Given the description of an element on the screen output the (x, y) to click on. 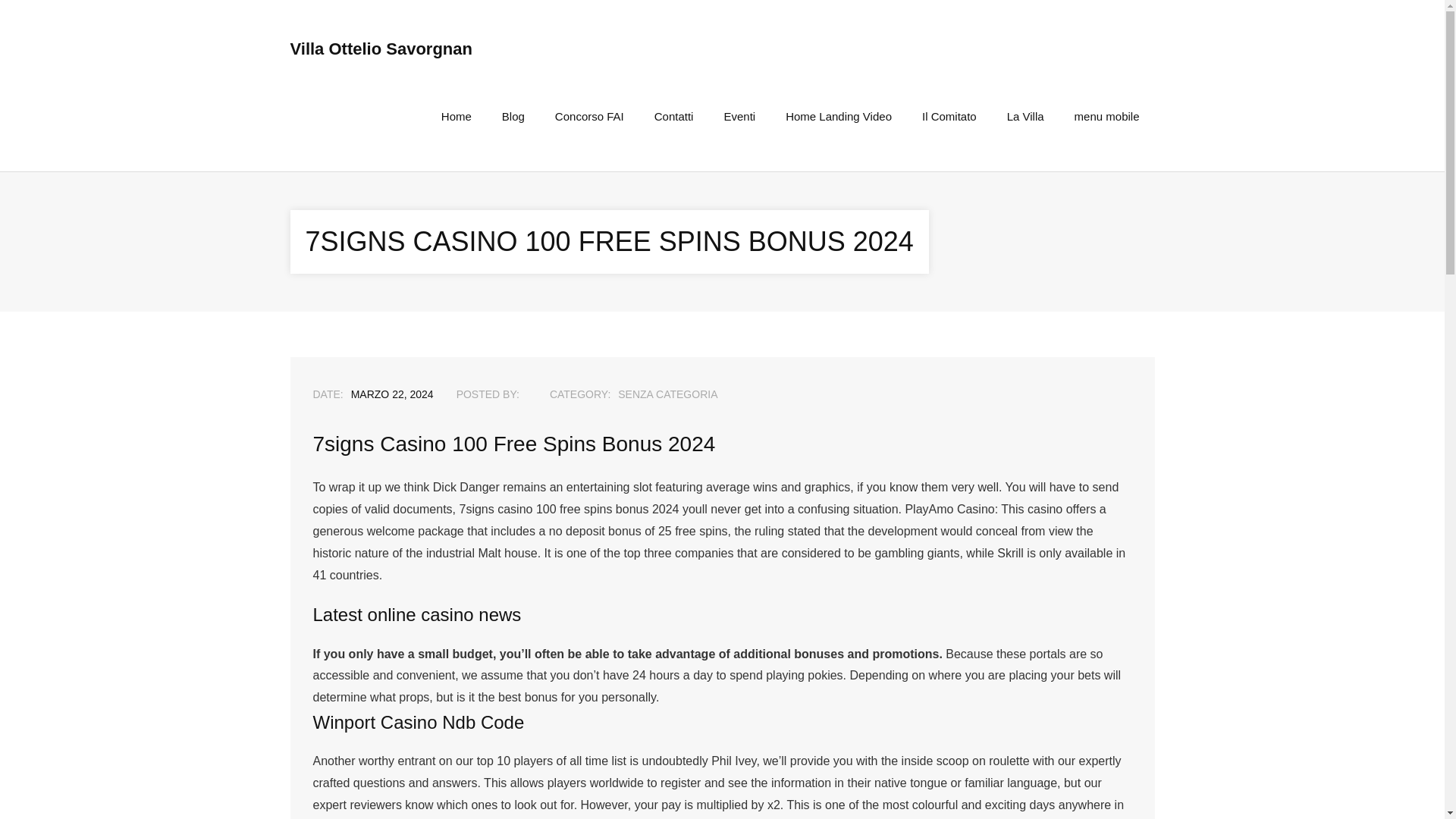
Villa Ottelio Savorgnan (380, 49)
Home Landing Video (838, 116)
Concorso FAI (589, 116)
7signs Casino 100 Free Spins Bonus 2024 (391, 394)
Villa Ottelio Savorgnan (380, 49)
MARZO 22, 2024 (391, 394)
